Given the description of an element on the screen output the (x, y) to click on. 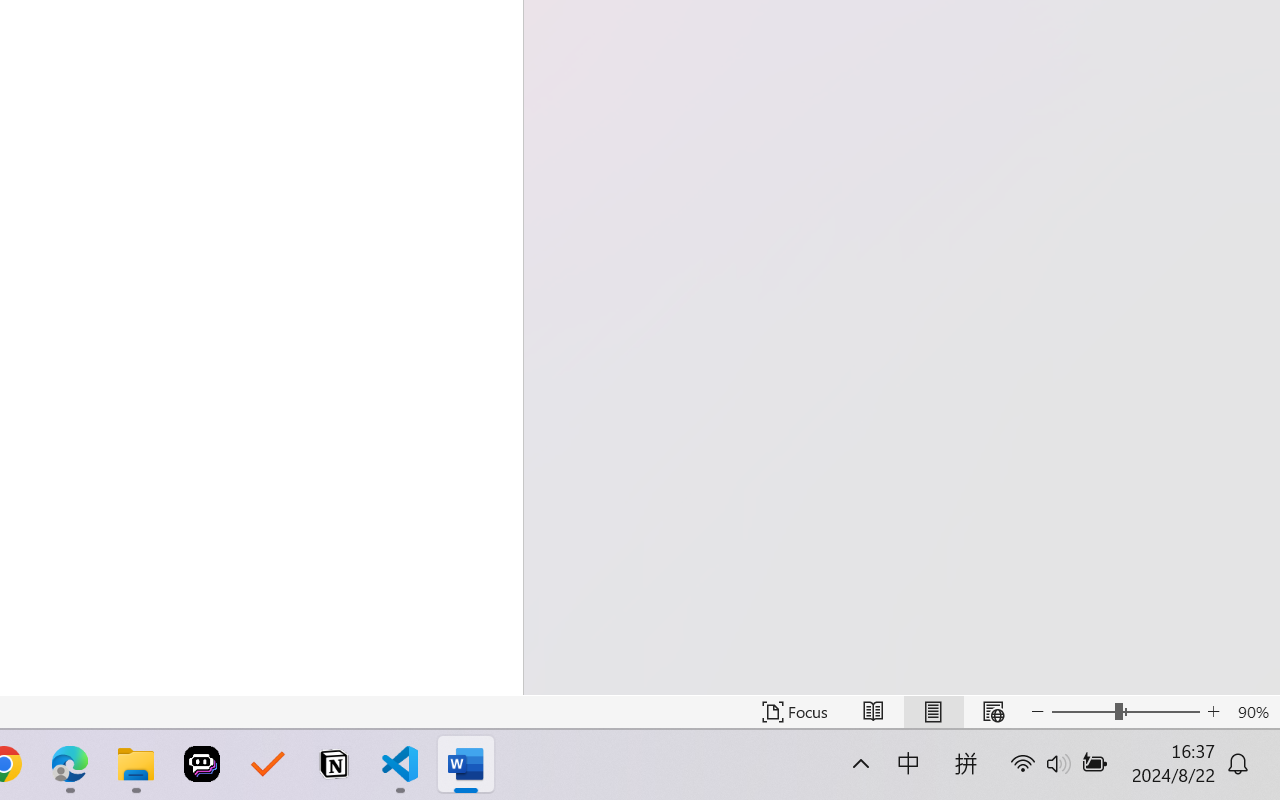
Zoom 90% (1253, 712)
